Given the description of an element on the screen output the (x, y) to click on. 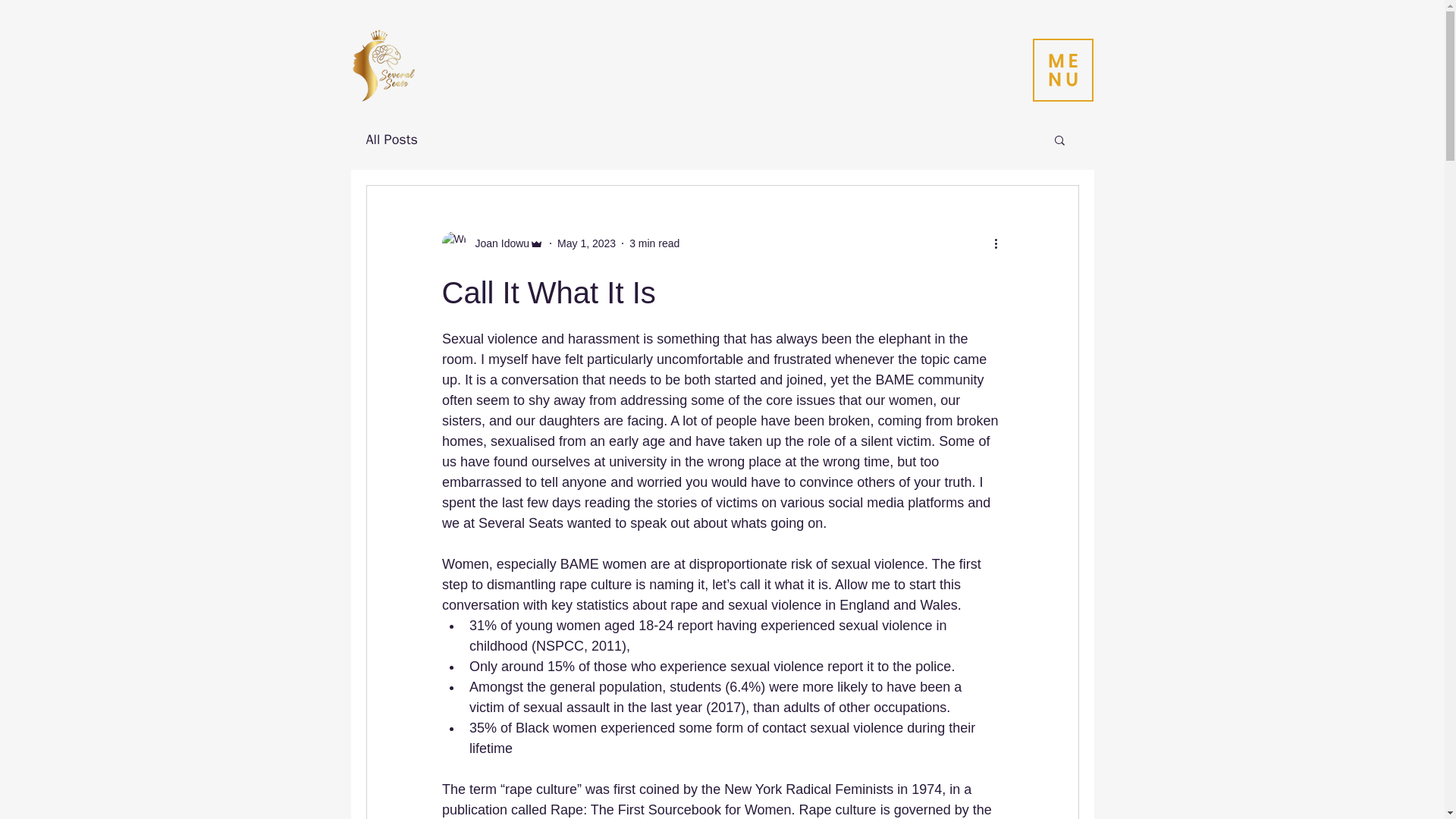
May 1, 2023 (586, 242)
Joan Idowu (497, 242)
3 min read (653, 242)
All Posts (390, 139)
Joan Idowu (492, 242)
